Given the description of an element on the screen output the (x, y) to click on. 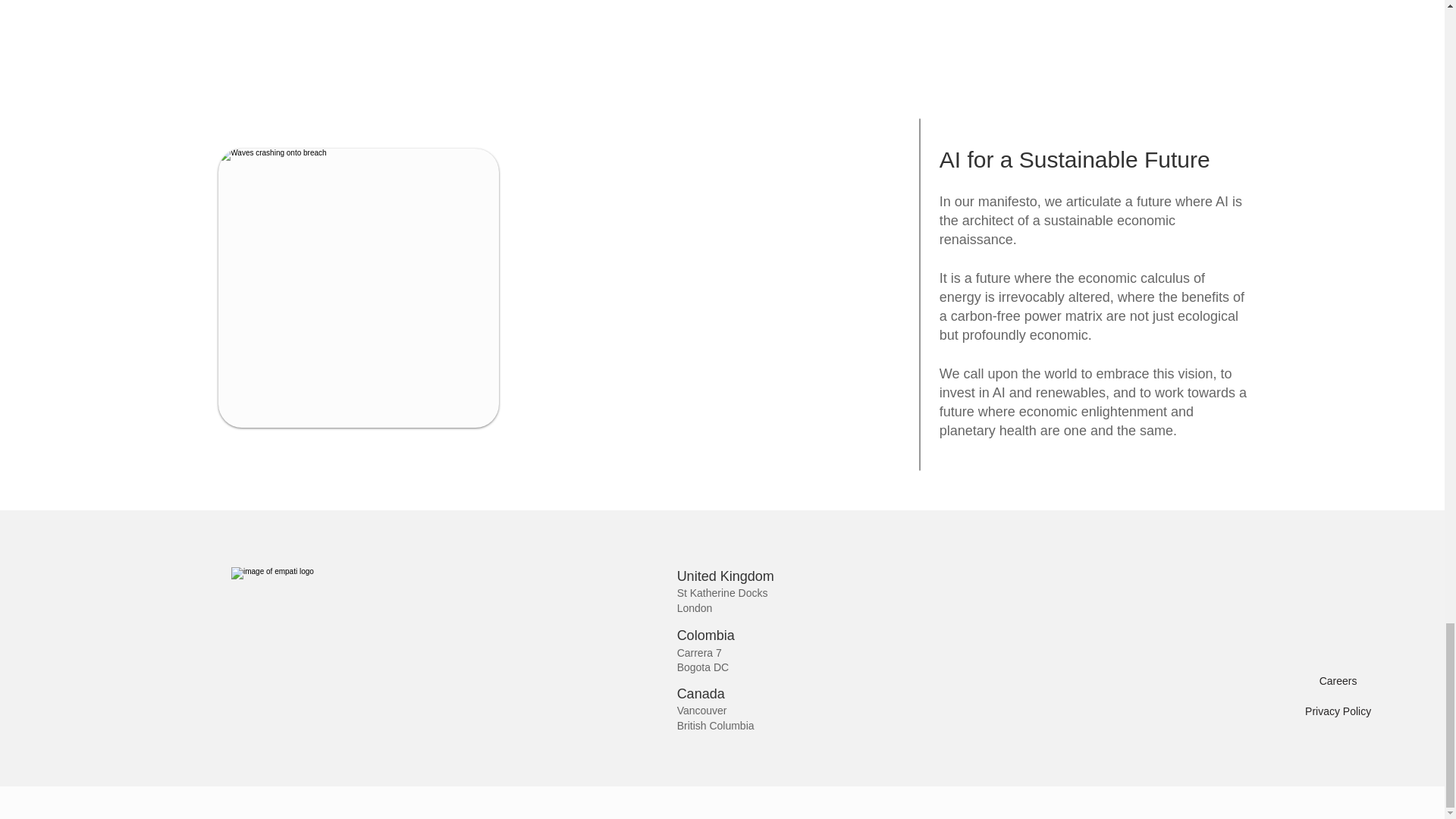
Careers (1337, 680)
Privacy Policy (1337, 711)
